Given the description of an element on the screen output the (x, y) to click on. 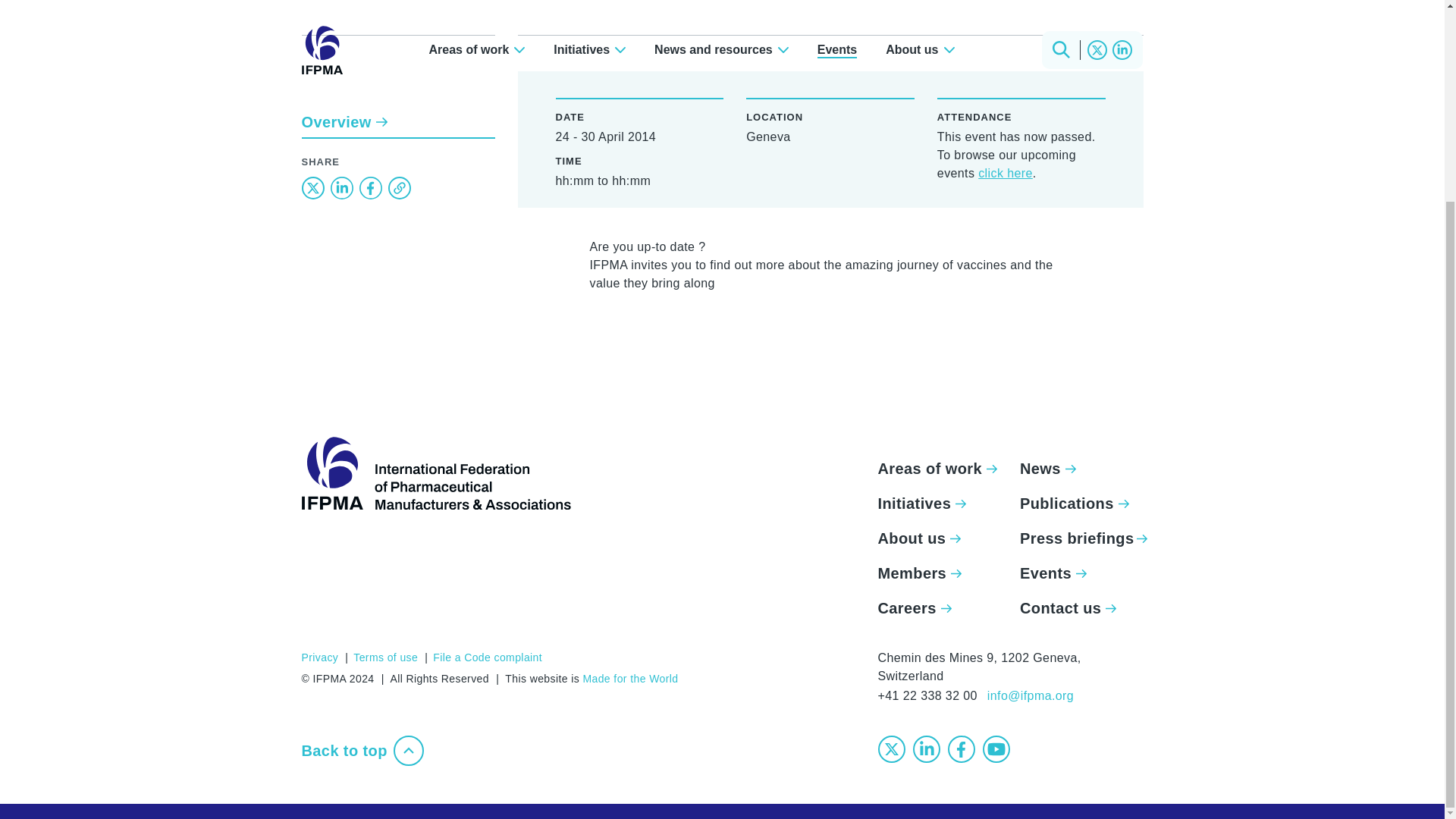
Overview (398, 107)
IFPMA (435, 472)
